Given the description of an element on the screen output the (x, y) to click on. 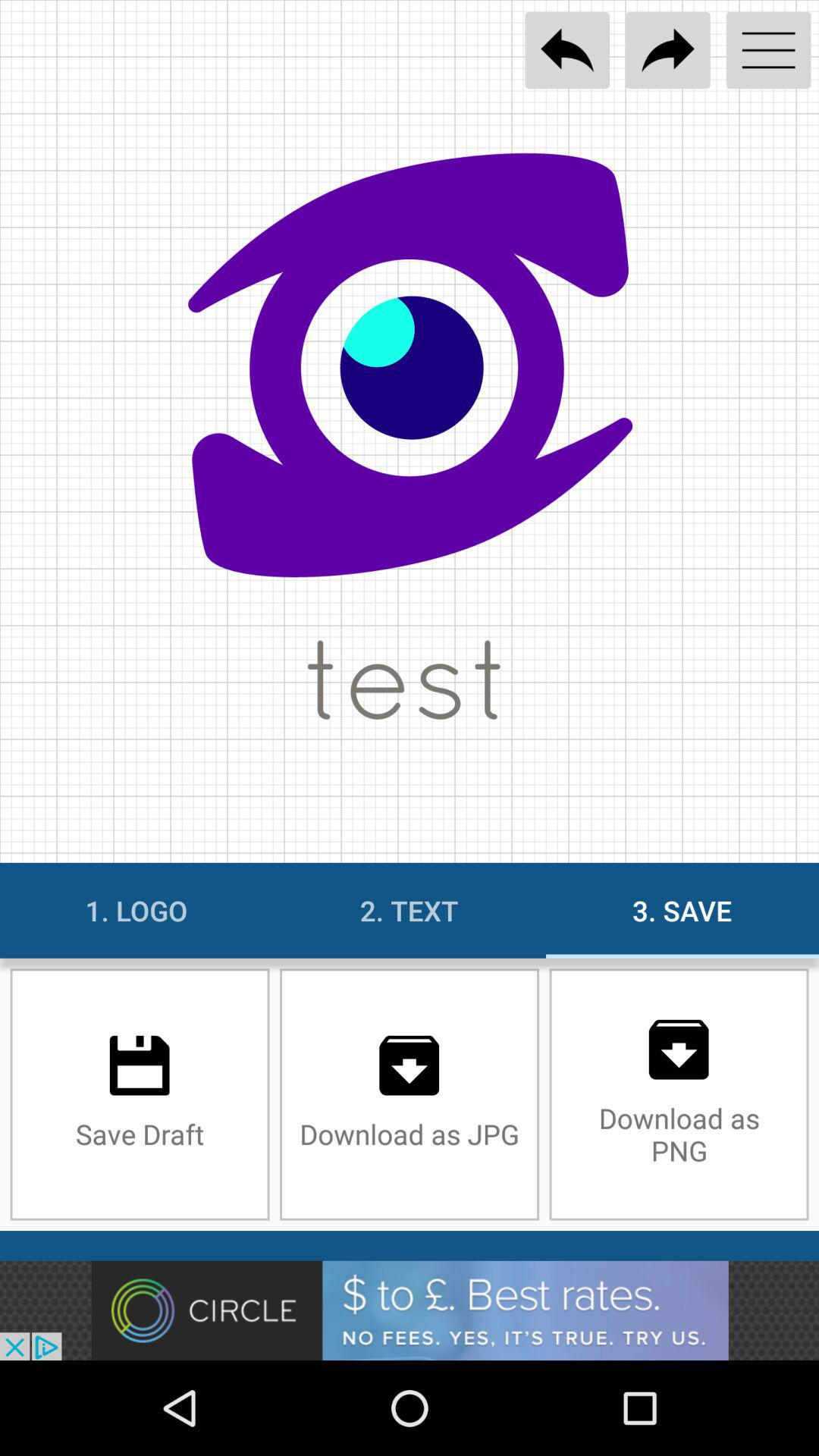
advertisement display (409, 1310)
